Given the description of an element on the screen output the (x, y) to click on. 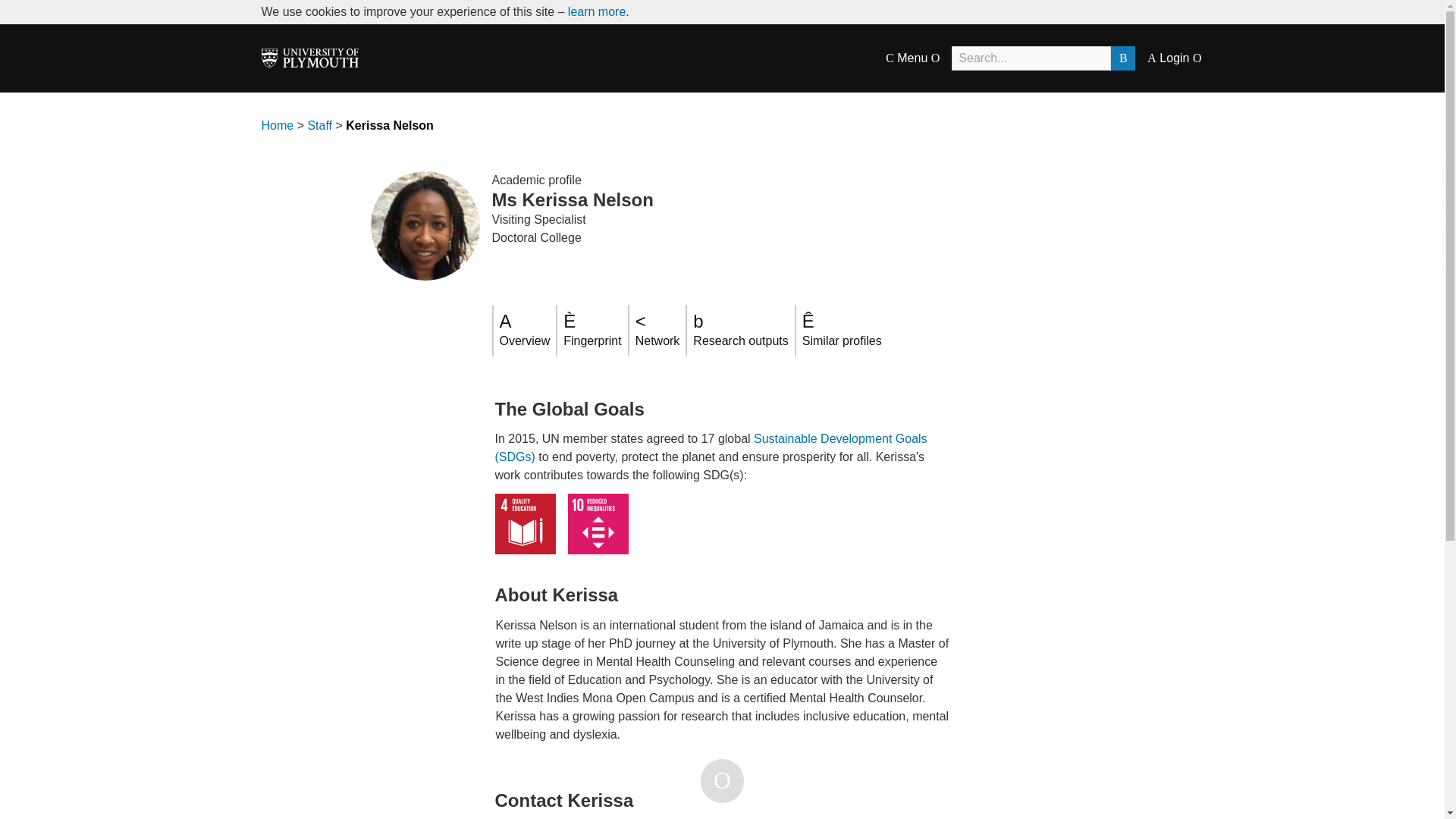
C Menu O (911, 58)
Goal 04: SDG 4 - Quality Education (524, 523)
B (1122, 57)
A Login O (1174, 58)
Goal 10: SDG 10 - Reduced Inequalities (597, 523)
learn more (596, 11)
